Given the description of an element on the screen output the (x, y) to click on. 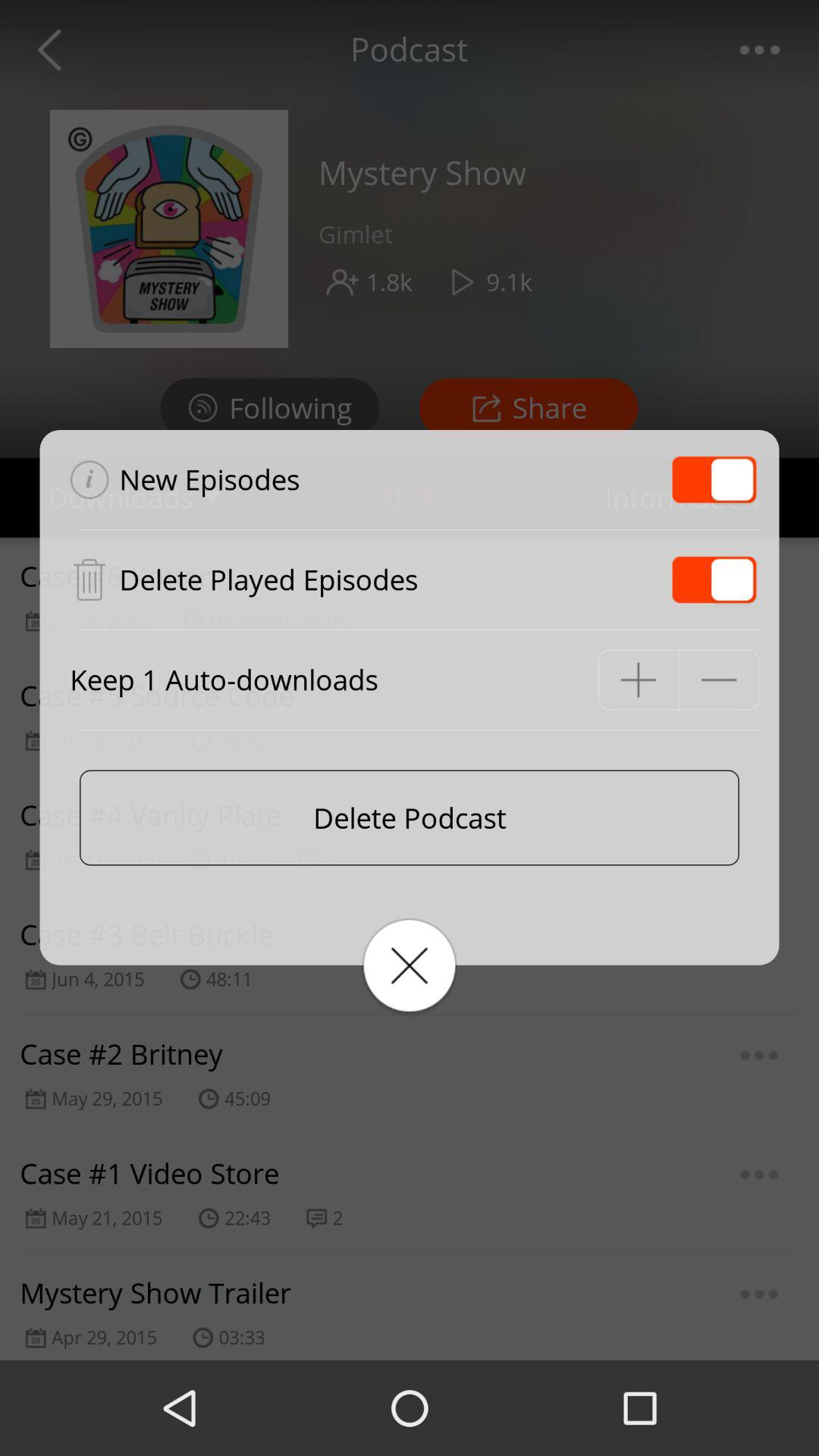
click item to the right of the new episodes icon (714, 479)
